Given the description of an element on the screen output the (x, y) to click on. 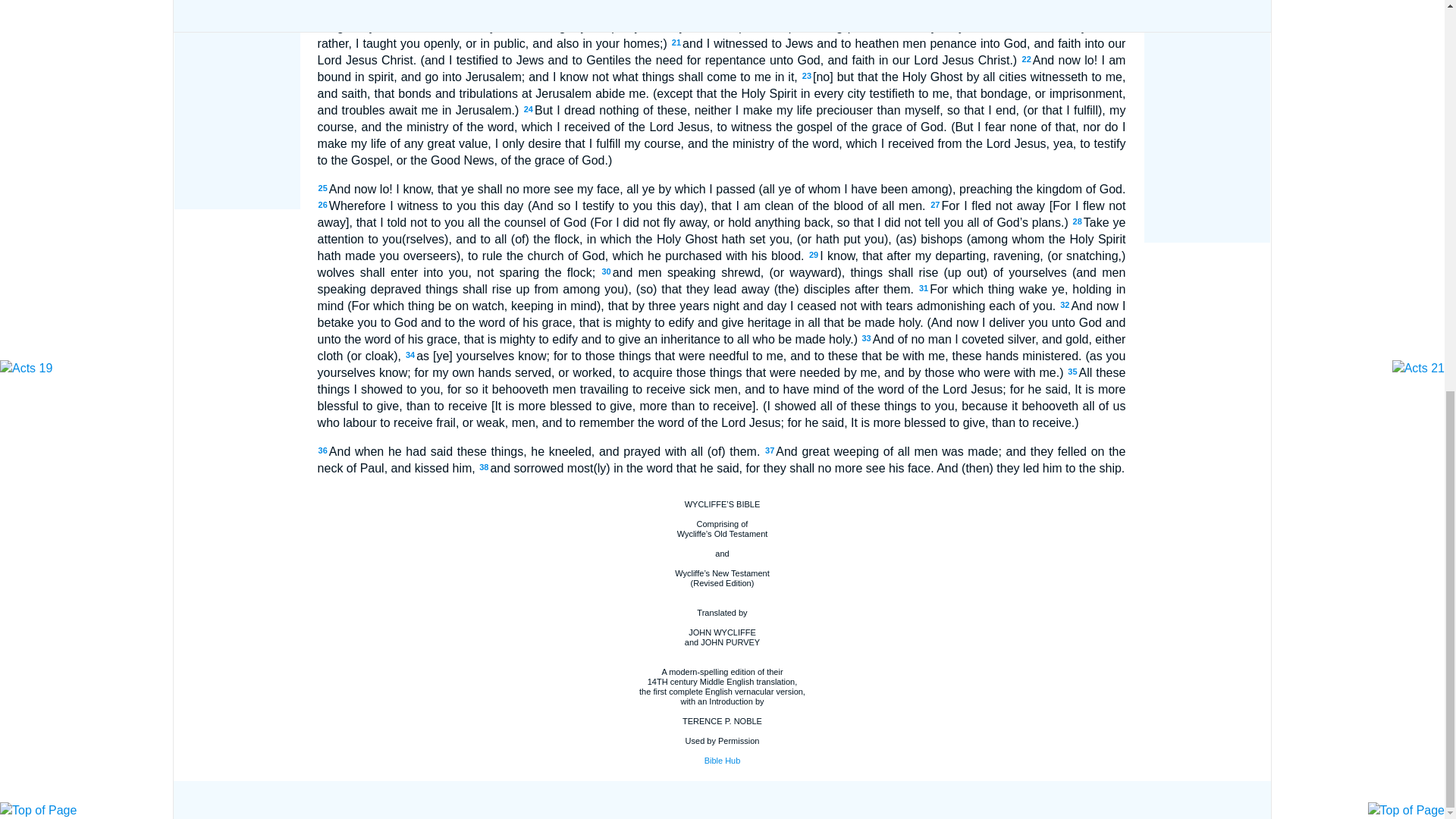
21 (676, 41)
36 (322, 450)
31 (923, 287)
24 (528, 108)
27 (934, 204)
Top of Page (38, 62)
26 (322, 204)
20 (870, 8)
32 (1063, 304)
35 (1072, 370)
